Given the description of an element on the screen output the (x, y) to click on. 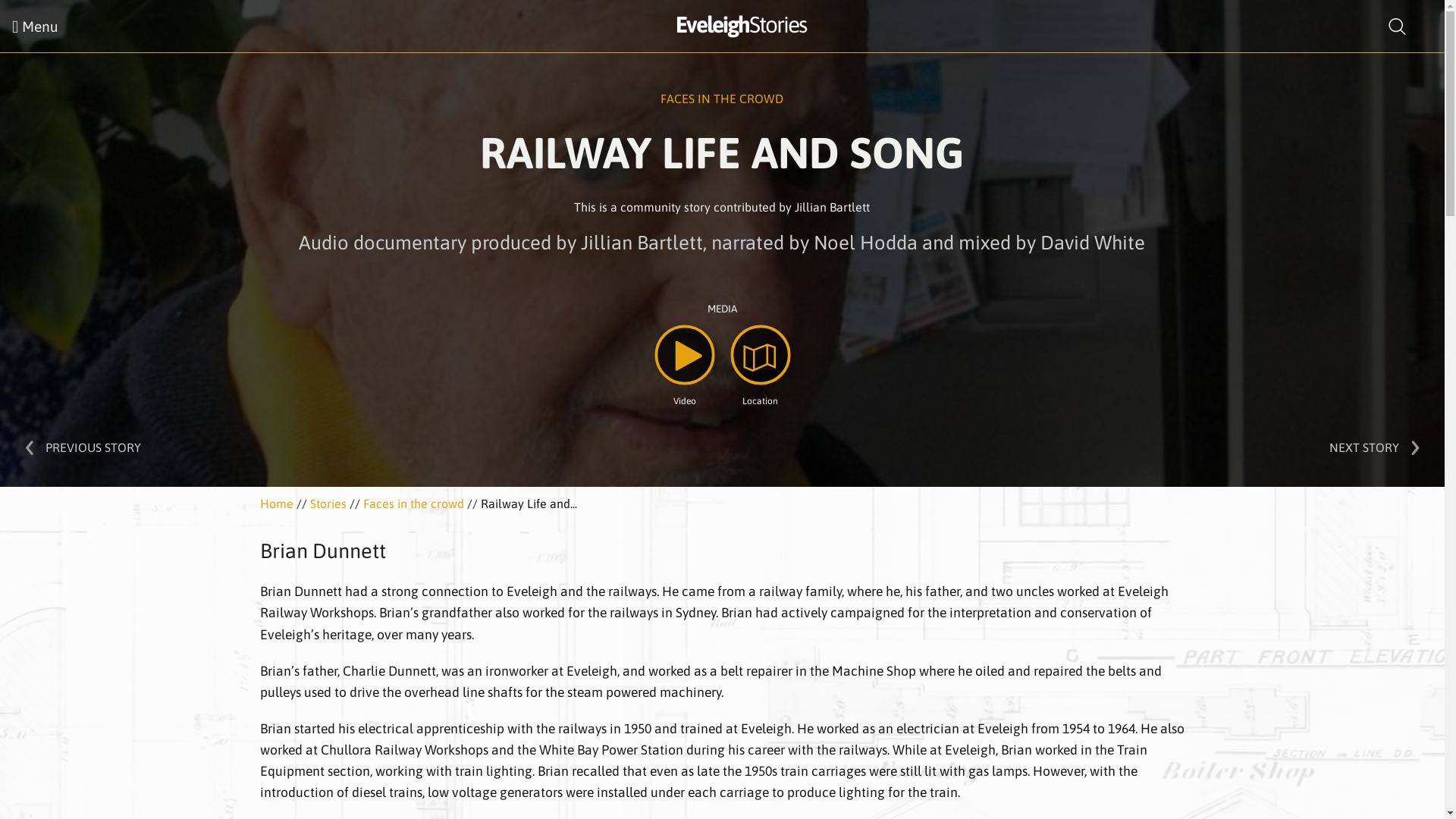
PREVIOUS STORY Element type: text (93, 447)
NEXT STORY Element type: text (1364, 447)
FACES IN THE CROWD Element type: text (721, 98)
Eveleigh Stories Element type: text (740, 24)
Skip to main content Element type: text (54, 0)
Home Element type: text (275, 503)
Faces in the crowd Element type: text (412, 503)
Stories Element type: text (327, 503)
